Given the description of an element on the screen output the (x, y) to click on. 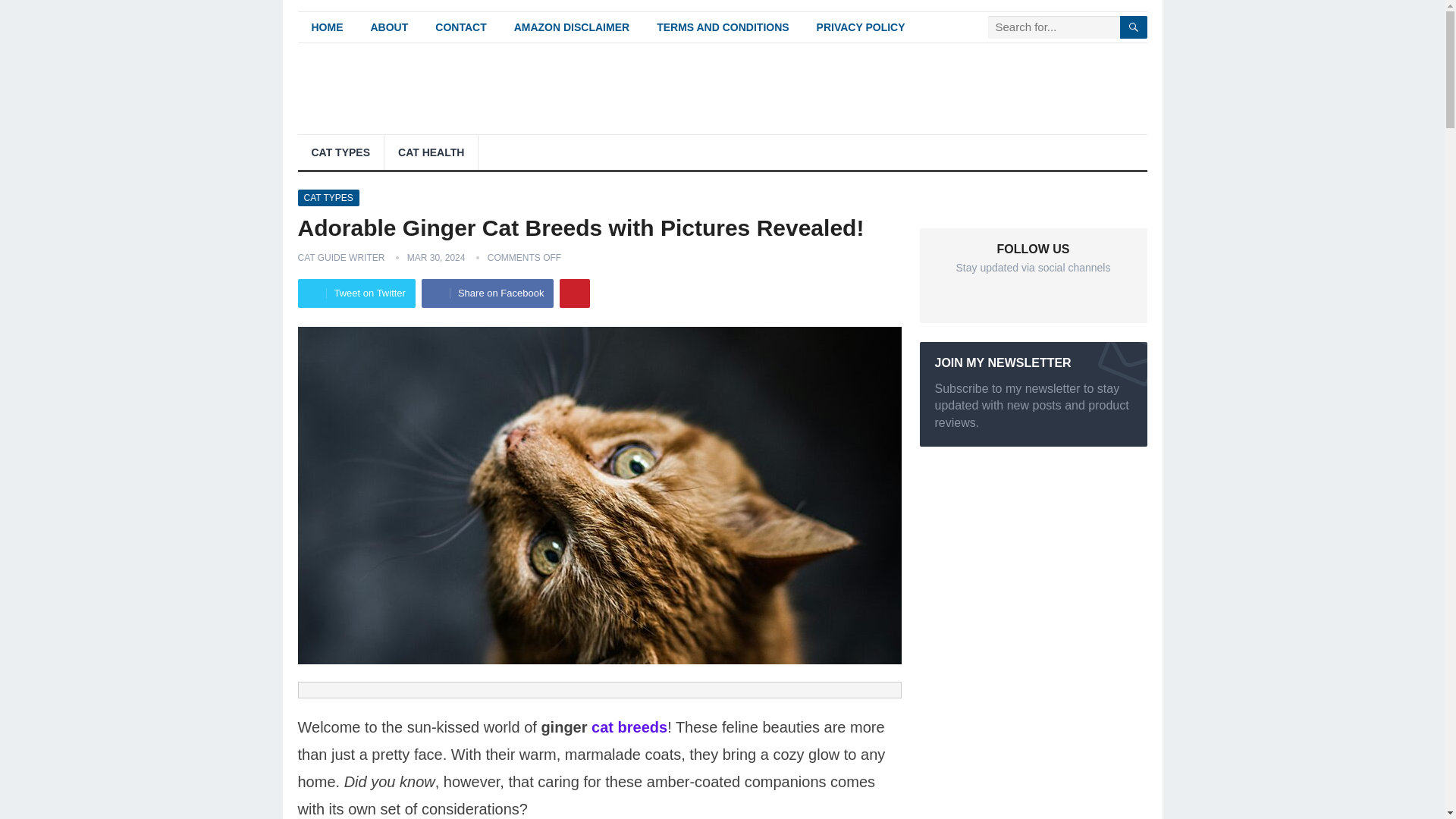
Posts by Cat Guide Writer (340, 256)
HOME (326, 27)
View all posts in Cat Types (327, 197)
cat breeds (628, 727)
Pinterest (574, 293)
PRIVACY POLICY (860, 27)
TERMS AND CONDITIONS (722, 27)
CAT TYPES (327, 197)
CONTACT (460, 27)
AMAZON DISCLAIMER (571, 27)
Share on Facebook (487, 293)
ABOUT (389, 27)
CAT GUIDE WRITER (340, 256)
CAT TYPES (340, 152)
Tweet on Twitter (355, 293)
